Given the description of an element on the screen output the (x, y) to click on. 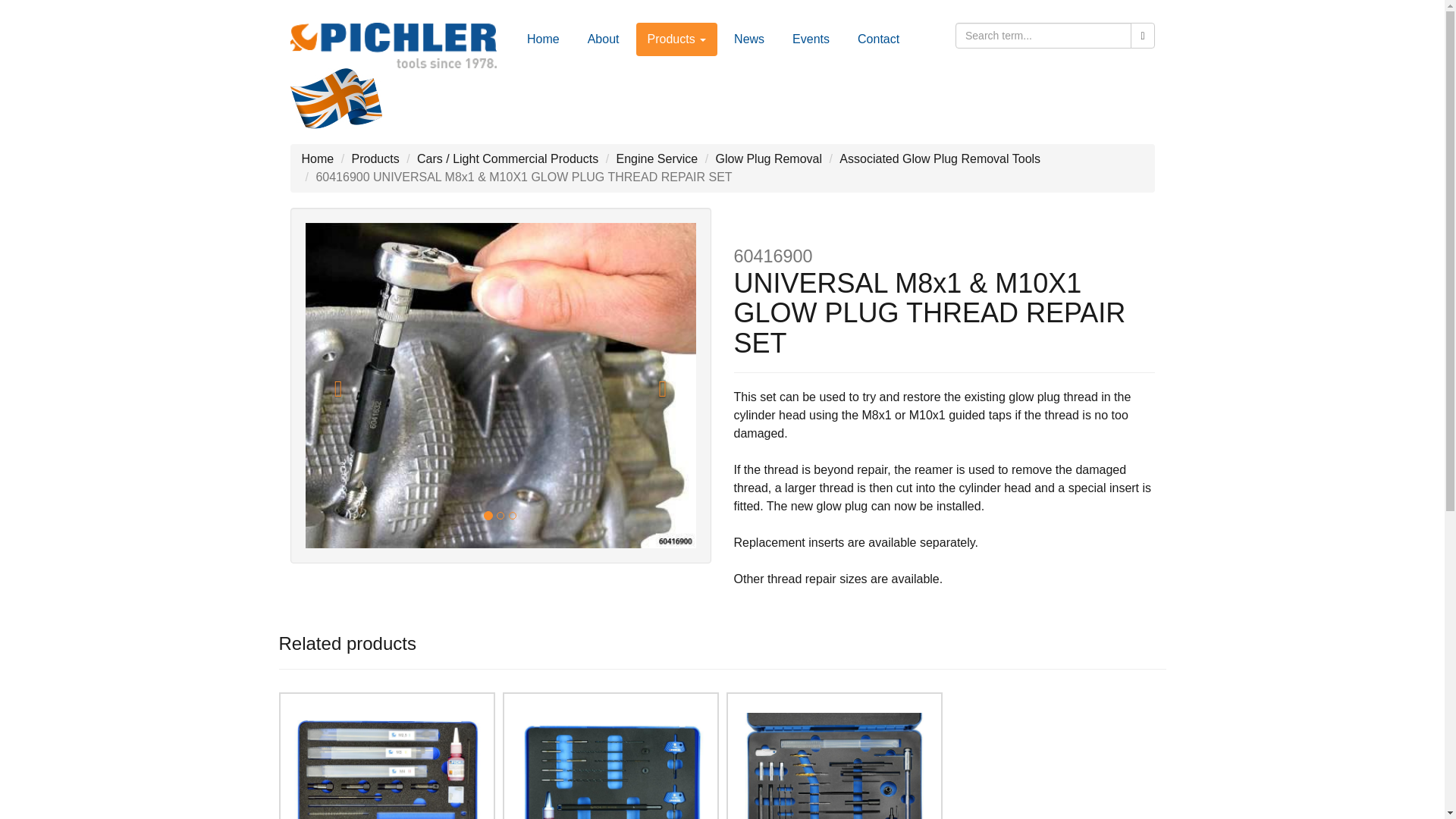
News (749, 39)
Products (675, 39)
Engine Service (656, 158)
Contact (878, 39)
Events (810, 39)
UK Flag (335, 97)
Products (375, 158)
PICHLER TOOLS LTD Logo (392, 44)
Associated Glow Plug Removal Tools (940, 158)
